Given the description of an element on the screen output the (x, y) to click on. 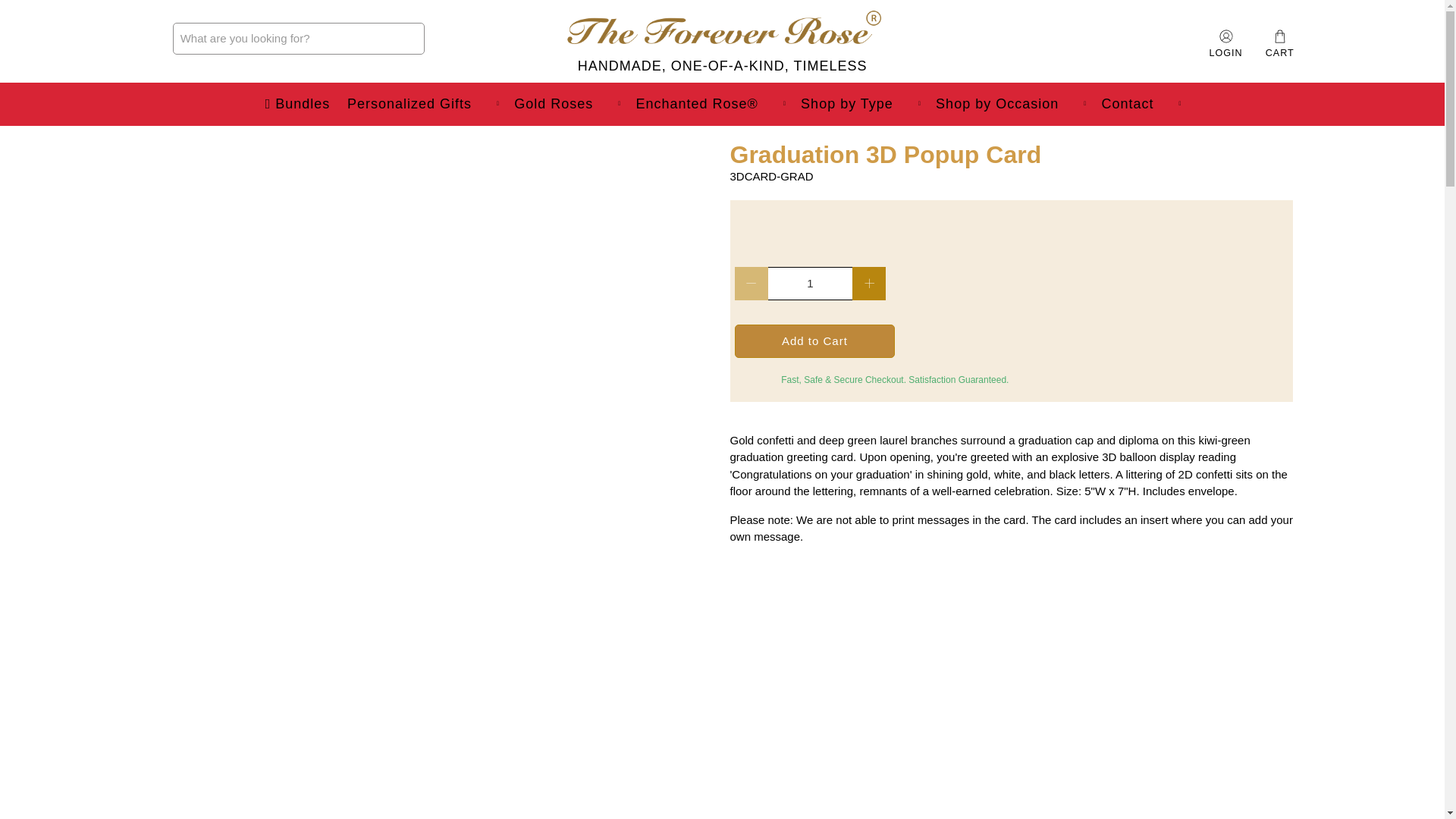
Personalized Gifts (422, 104)
Gold Roses (566, 104)
1 (809, 283)
Shop by Type (859, 104)
Shop by Occasion (1010, 104)
LOGIN (1224, 37)
The Forever Rose  (722, 38)
HANDMADE, ONE-OF-A-KIND, TIMELESS (722, 38)
CART (1279, 44)
